Given the description of an element on the screen output the (x, y) to click on. 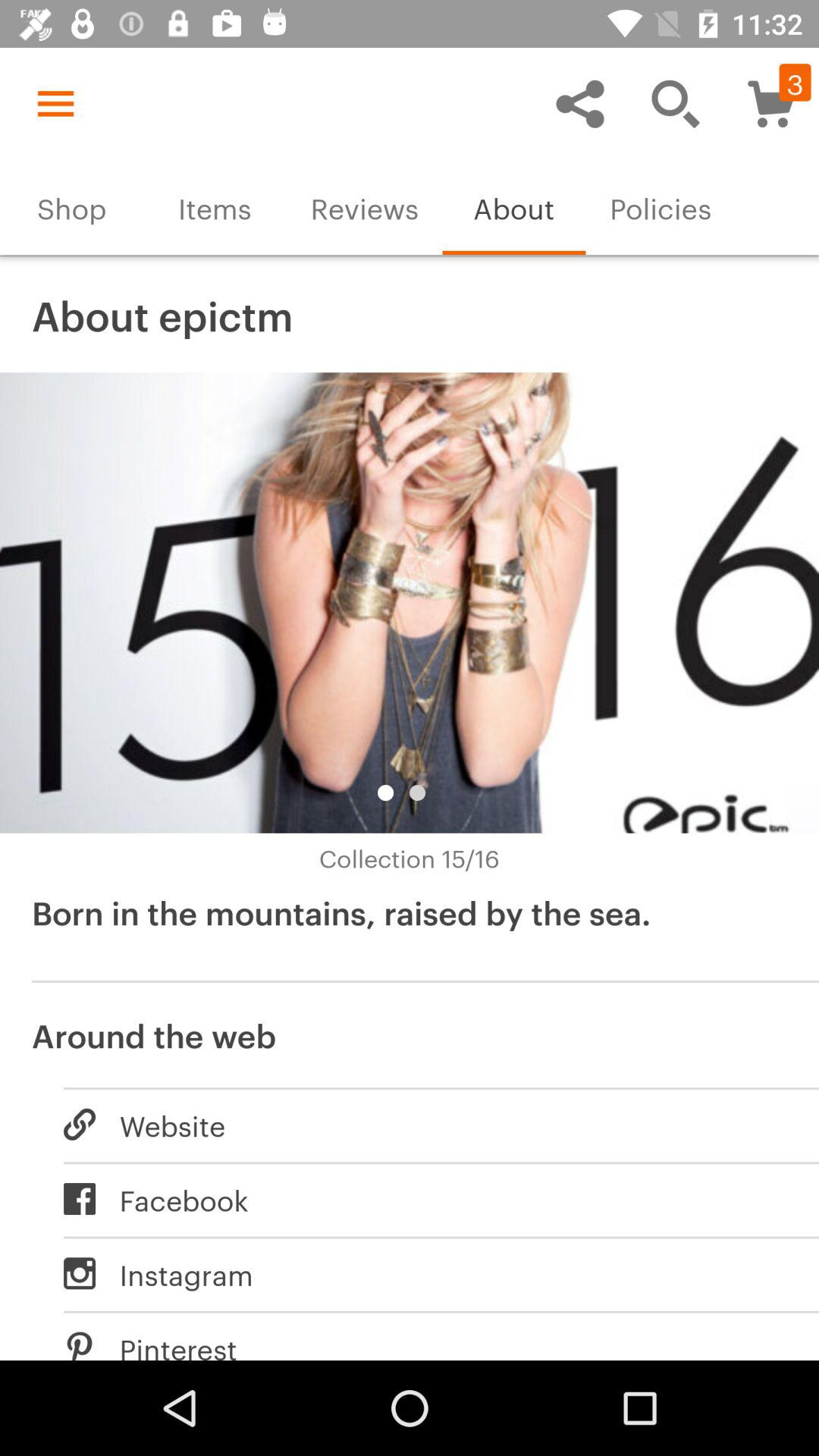
open the icon above around the web icon (409, 930)
